Given the description of an element on the screen output the (x, y) to click on. 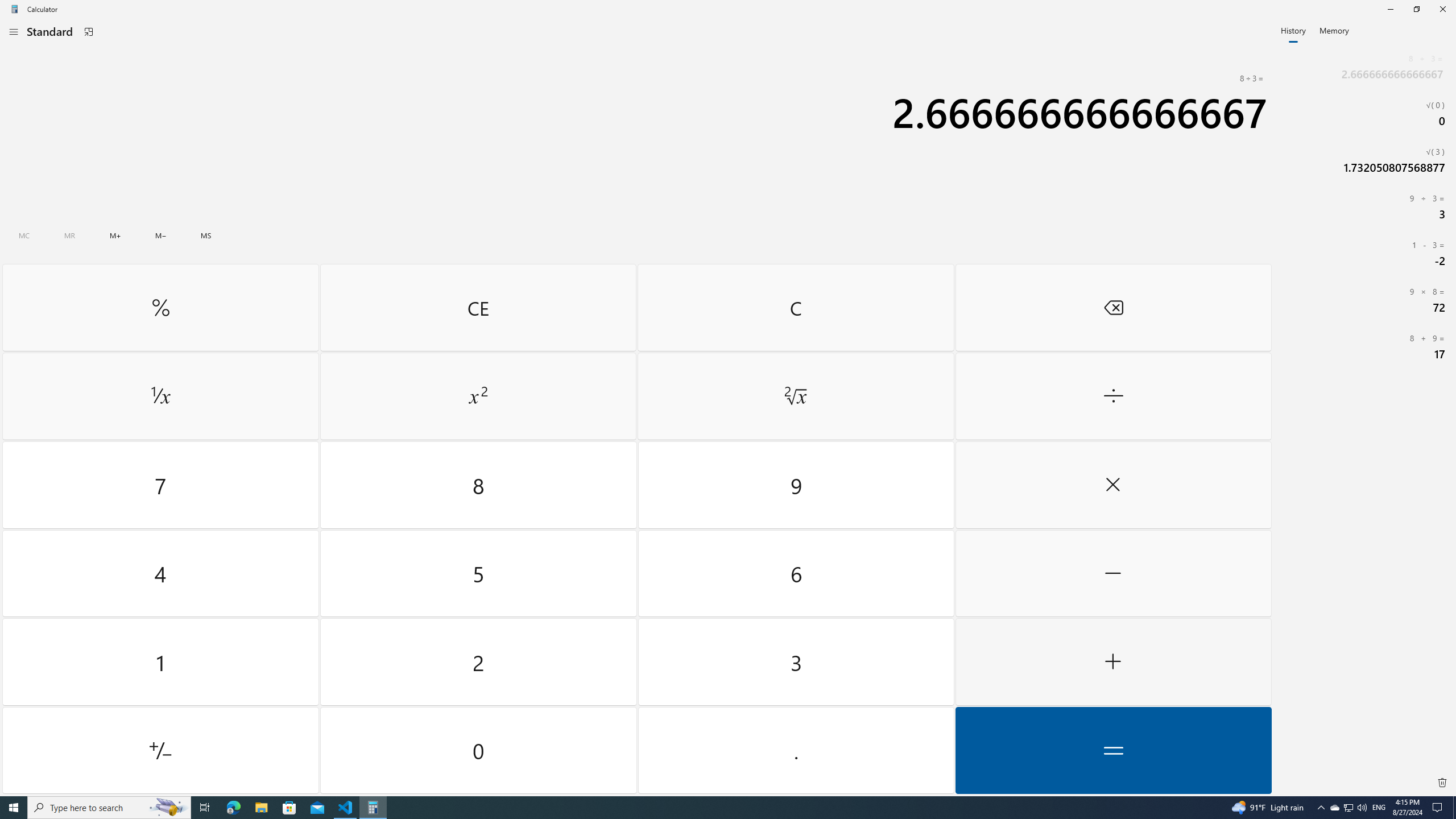
File Explorer (261, 807)
Minus (1113, 572)
Start (1347, 807)
Backspace (13, 807)
Decimal separator (1113, 307)
Type here to search (795, 749)
Six (108, 807)
Running applications (795, 572)
Q2790: 100% (706, 807)
Five (1361, 807)
8 + 9= 17 (478, 572)
Positive negative (1364, 346)
Reciprocal (160, 749)
